Given the description of an element on the screen output the (x, y) to click on. 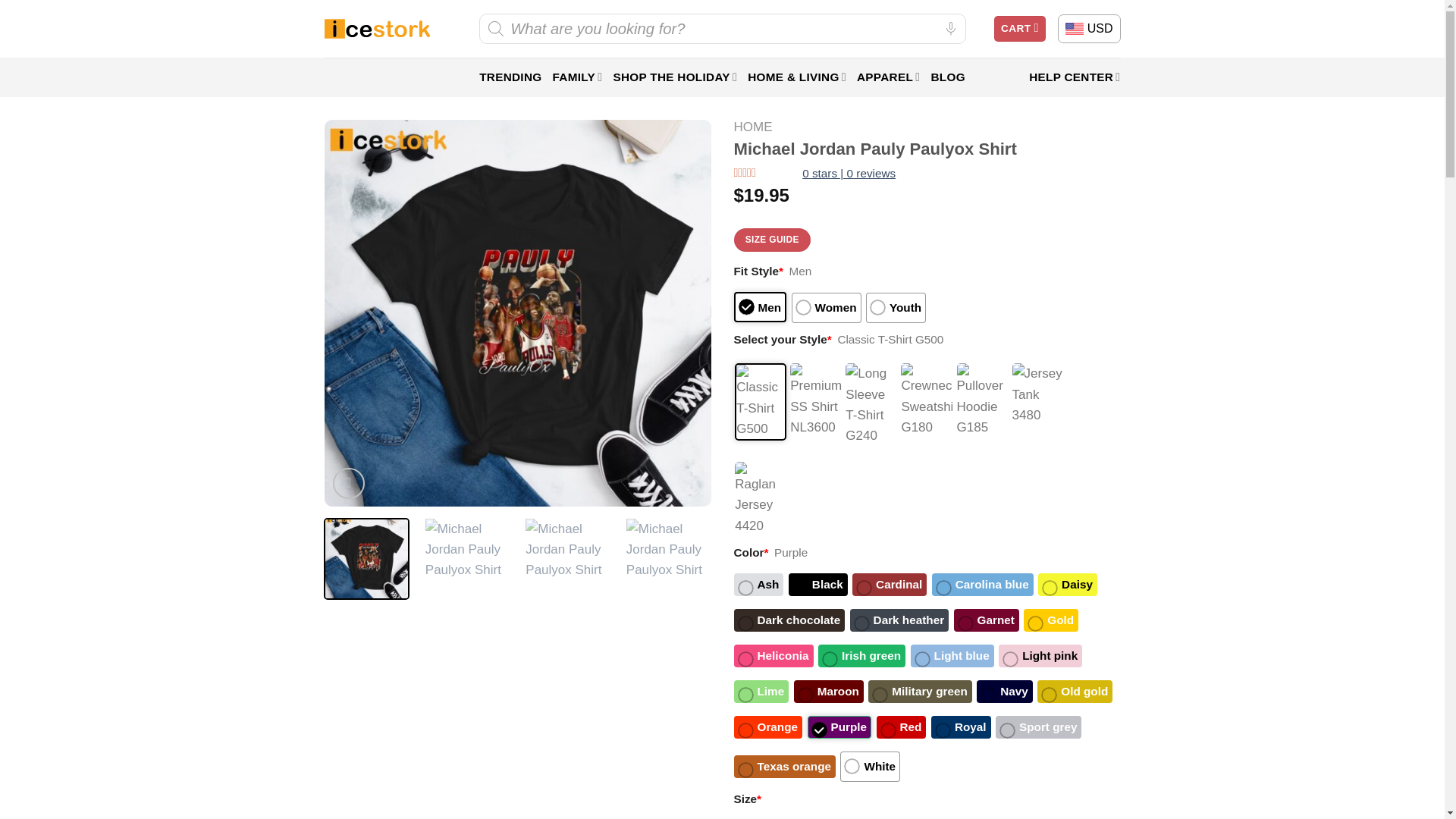
SHOP THE HOLIDAY (674, 77)
Icestork - Best Clothings With Cheap Price (376, 28)
FAMILY (576, 77)
TRENDING (510, 77)
APPAREL (888, 77)
HELP CENTER (1074, 77)
Cart (1019, 28)
CART (1019, 28)
Zoom (348, 482)
Michael Jordan Pauly Paulyox Shirt 1 (467, 560)
